Given the description of an element on the screen output the (x, y) to click on. 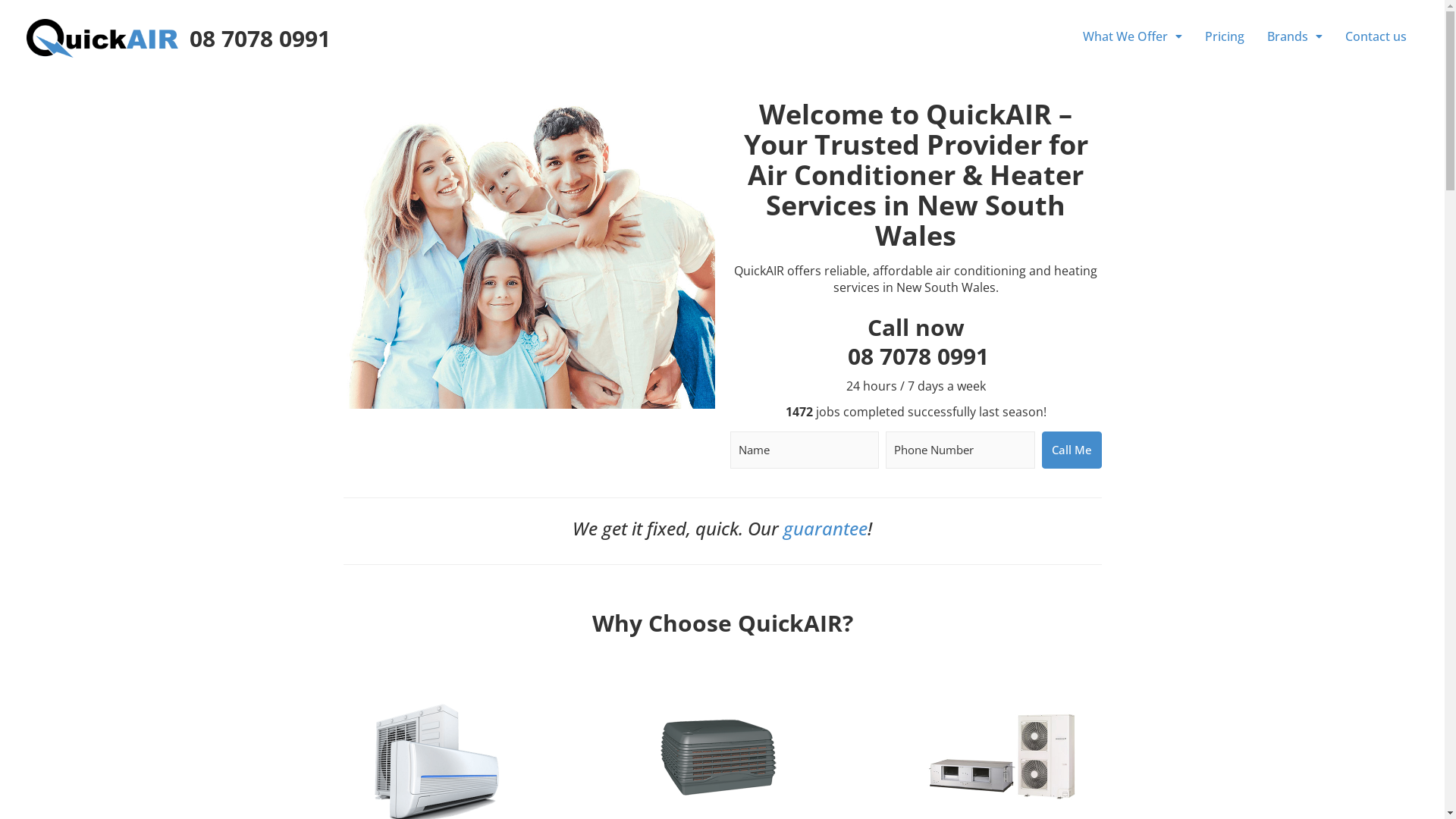
What We Offer Element type: text (1132, 35)
Brands Element type: text (1294, 35)
Call Me Element type: text (1071, 449)
guarantee Element type: text (825, 527)
Contact us Element type: text (1375, 35)
Pricing Element type: text (1224, 35)
08 7078 0991 Element type: text (917, 355)
08 7078 0991 Element type: text (259, 37)
